Given the description of an element on the screen output the (x, y) to click on. 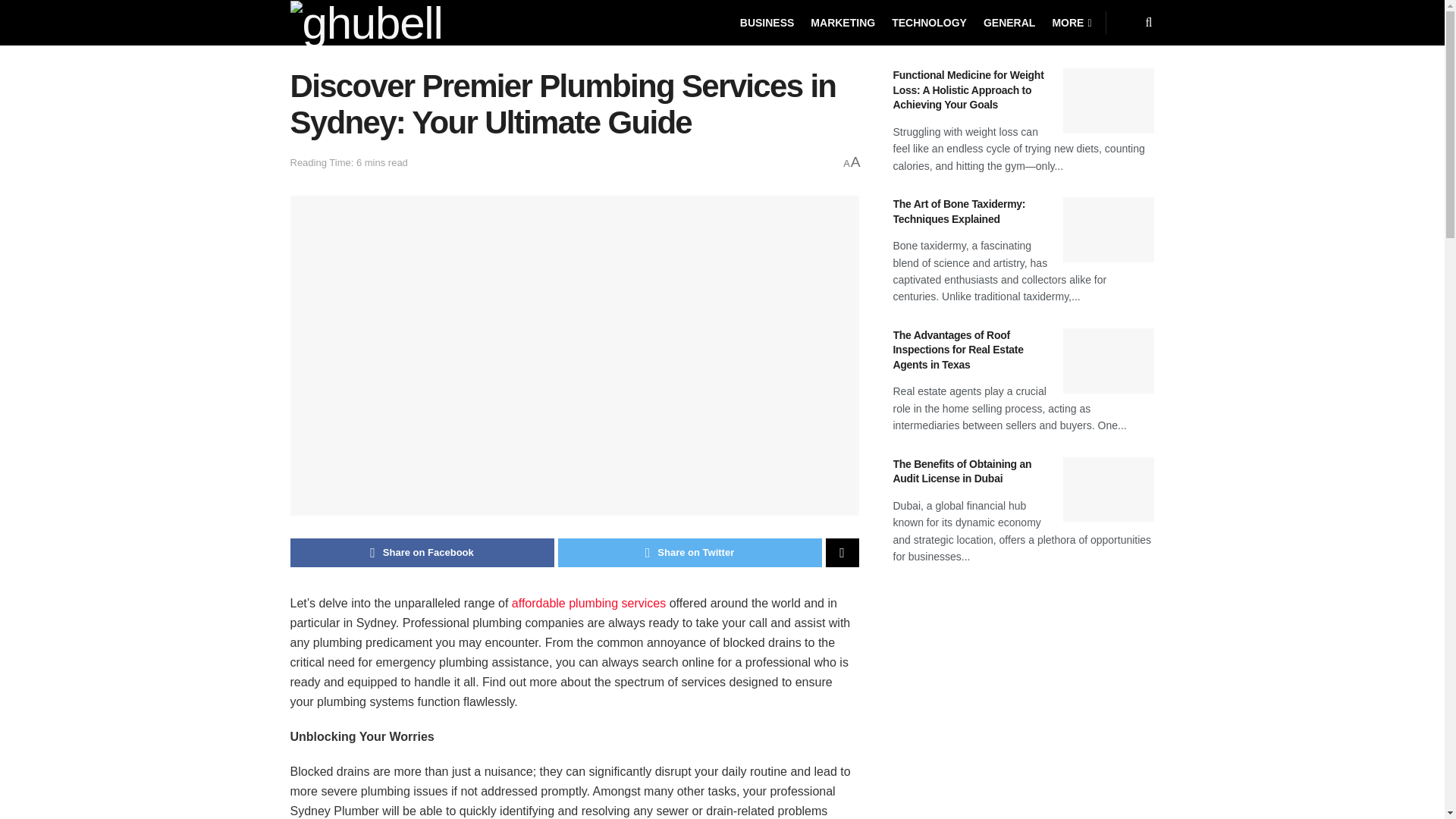
GENERAL (1009, 22)
TECHNOLOGY (928, 22)
MARKETING (842, 22)
BUSINESS (766, 22)
